Given the description of an element on the screen output the (x, y) to click on. 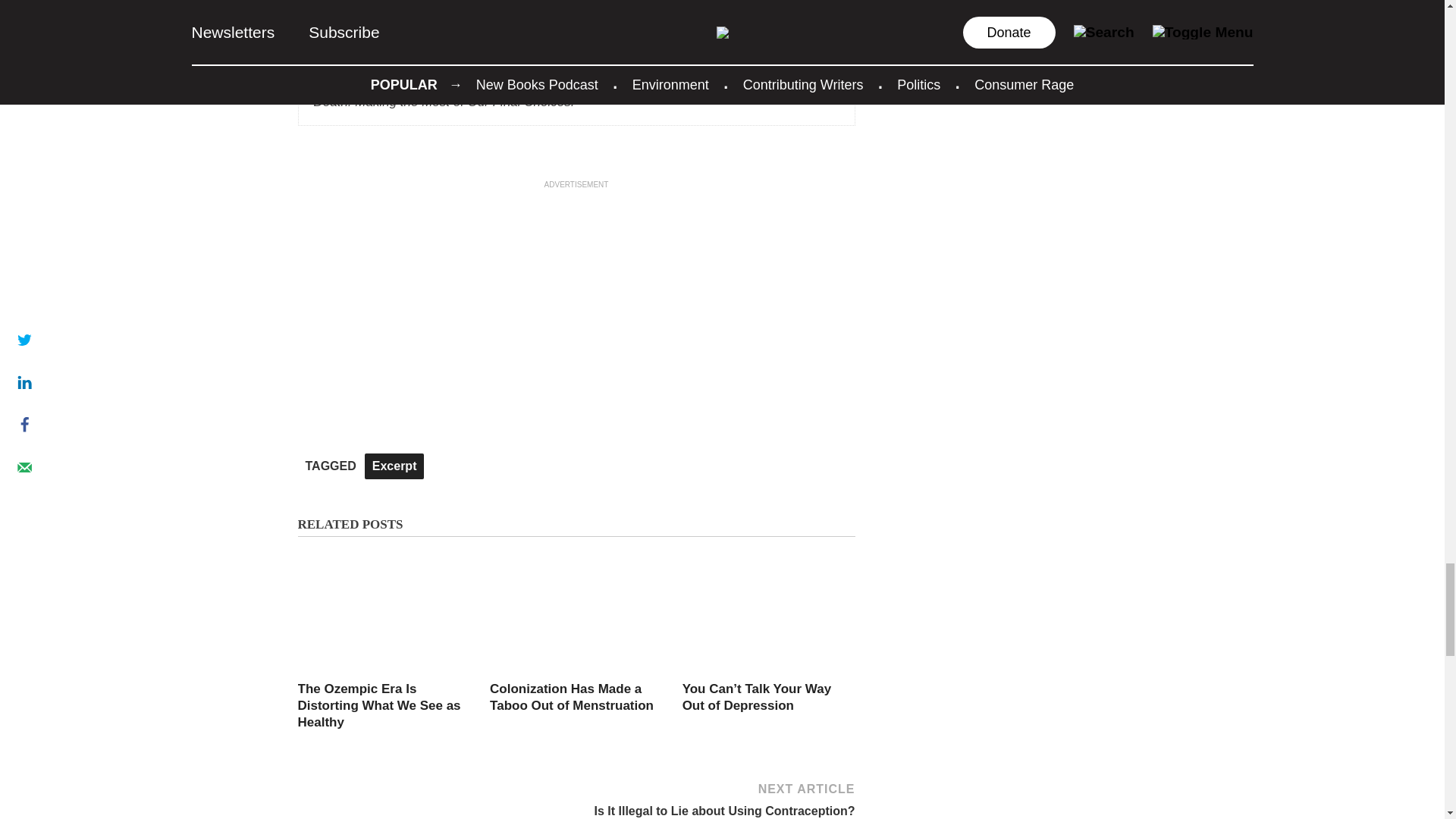
3rd party ad content (576, 285)
Colonization Has Made a Taboo Out of Menstruation (571, 696)
Sandra Martin (433, 61)
The Ozempic Era Is Distorting What We See as Healthy (378, 705)
Colonization Has Made a Taboo Out of Menstruation (575, 671)
The Ozempic Era Is Distorting What We See as Healthy (383, 671)
